Given the description of an element on the screen output the (x, y) to click on. 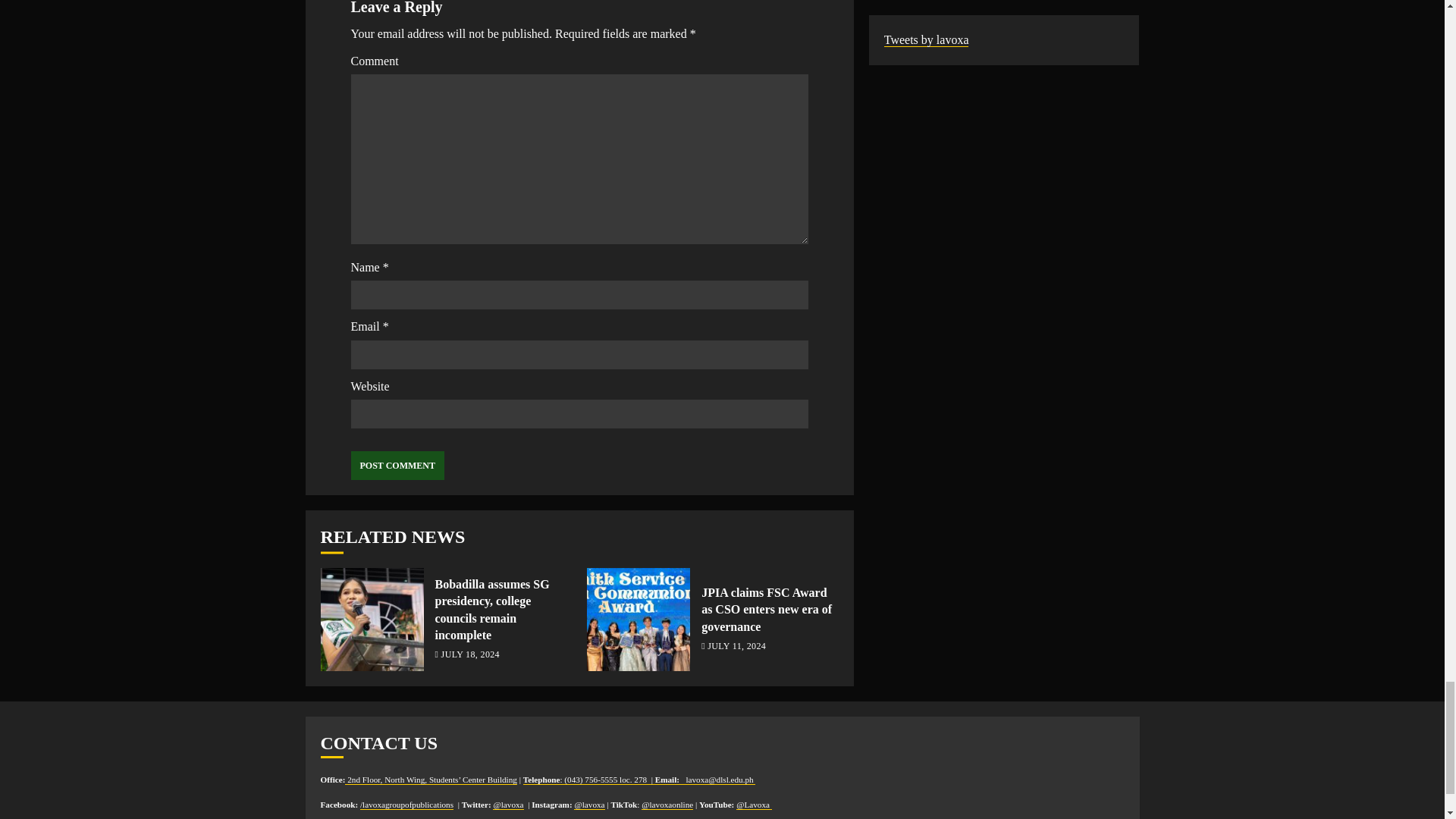
Post Comment (397, 465)
